Given the description of an element on the screen output the (x, y) to click on. 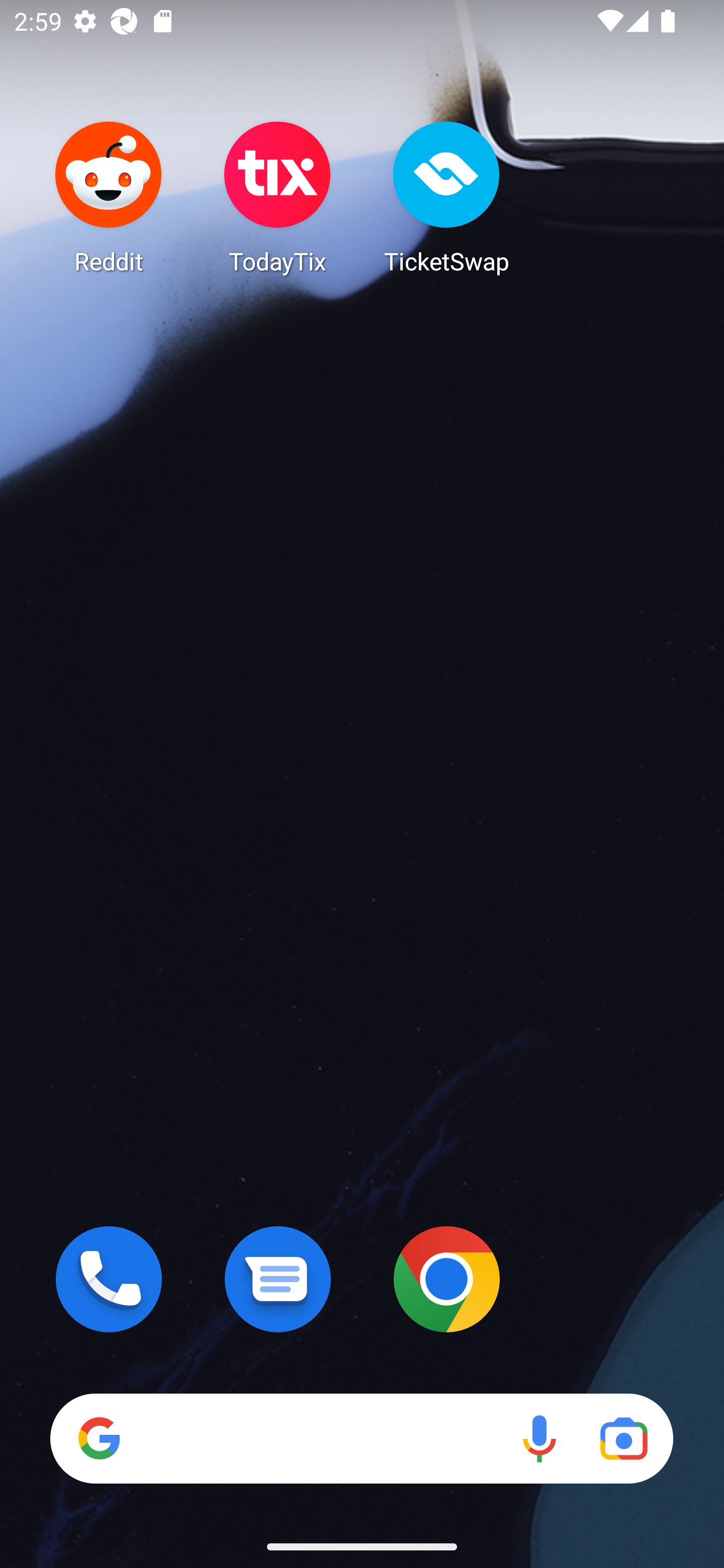
Reddit (108, 196)
TodayTix (277, 196)
TicketSwap (445, 196)
Phone (108, 1279)
Messages (277, 1279)
Chrome (446, 1279)
Voice search (539, 1438)
Google Lens (623, 1438)
